Given the description of an element on the screen output the (x, y) to click on. 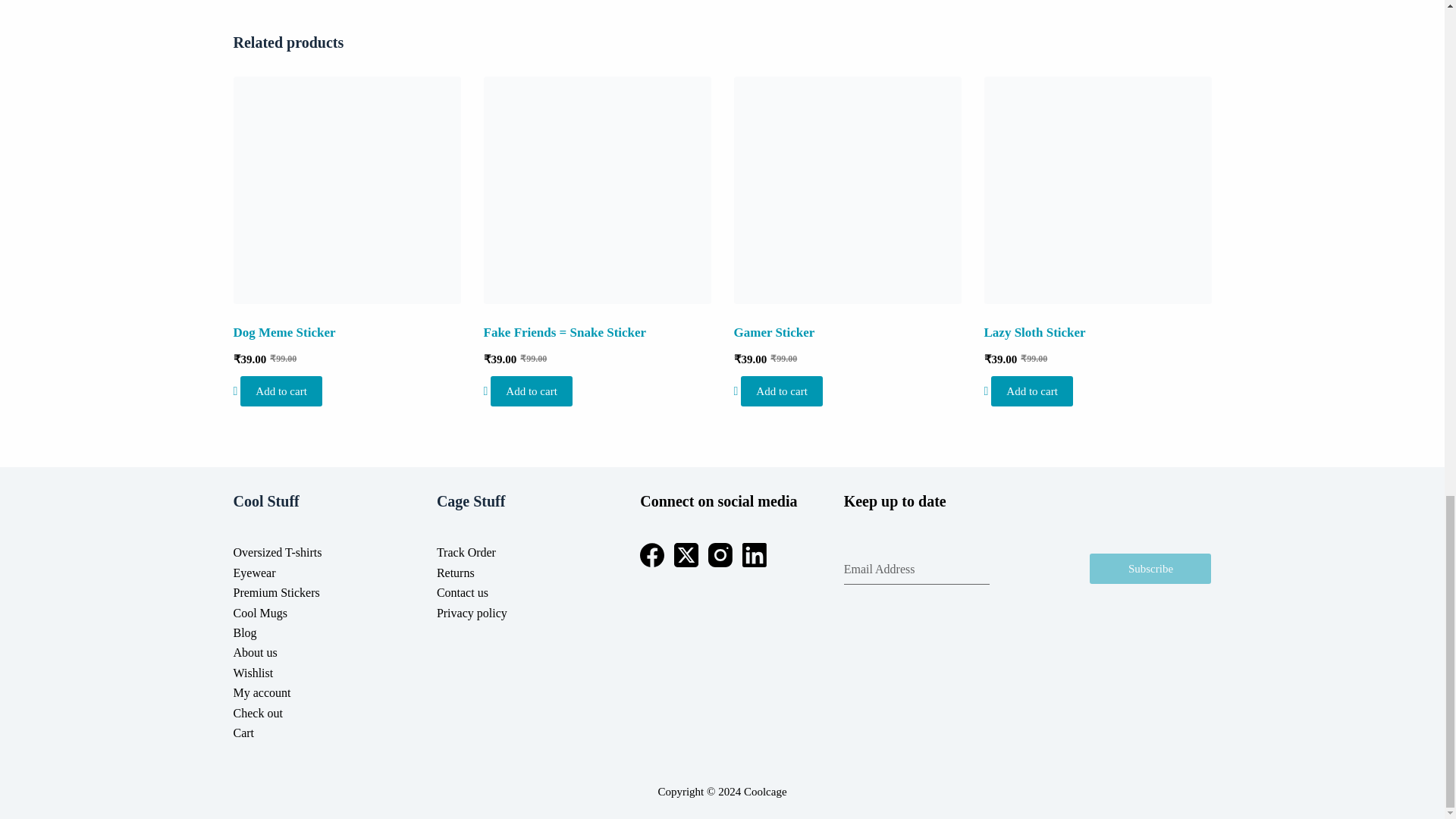
Gamer Cool Cage Sticker (846, 189)
Lazy Sloth Cool Cage Sticker (1097, 189)
Dog Meme Cool Cage Sticker (346, 189)
